Given the description of an element on the screen output the (x, y) to click on. 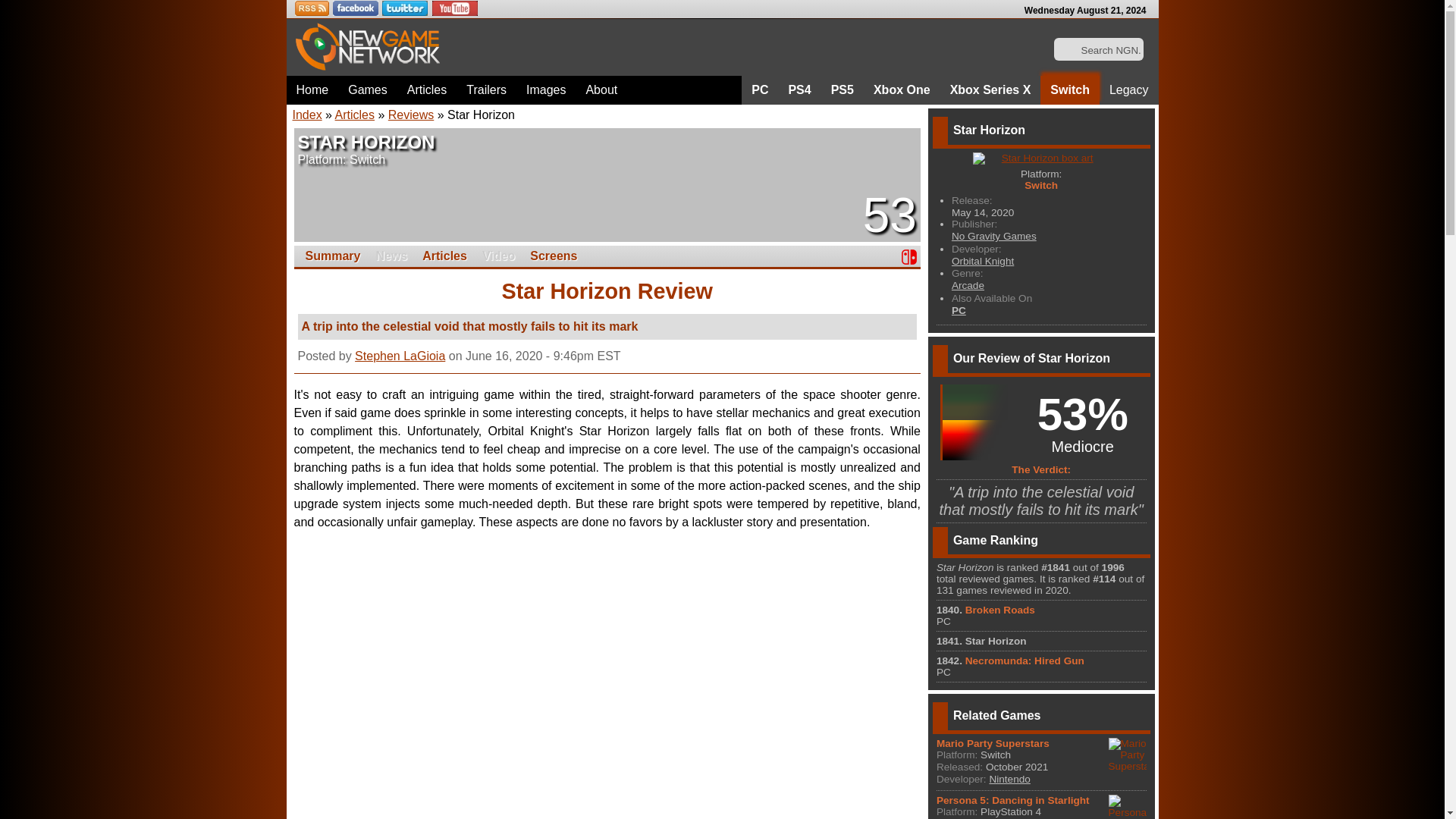
Search NGN...  (1100, 49)
Articles (427, 90)
About (601, 90)
Search NGN...  (1100, 49)
Games (367, 90)
Images (545, 90)
Legacy (1128, 90)
Home (312, 90)
Trailers (486, 90)
